Given the description of an element on the screen output the (x, y) to click on. 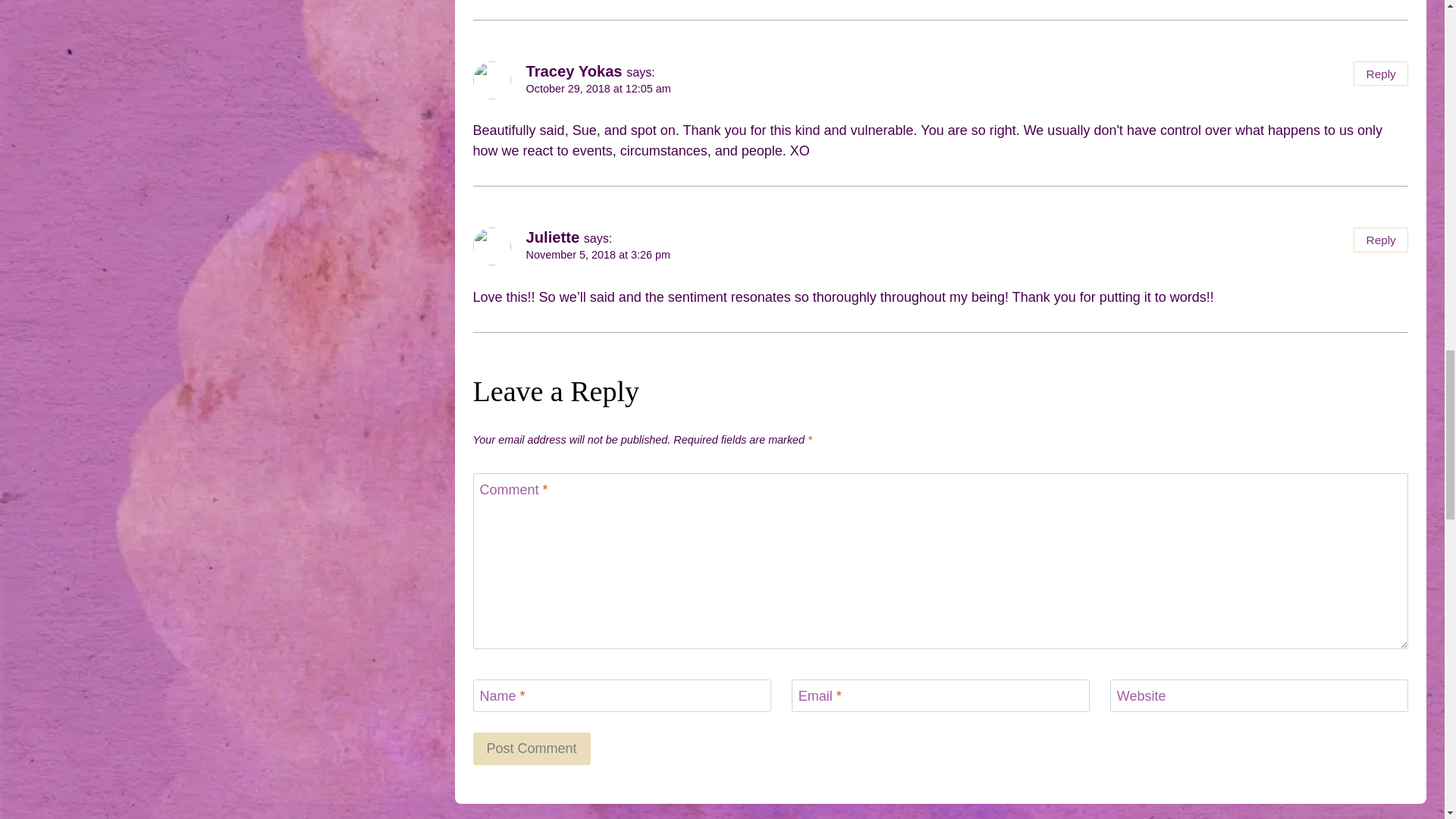
Reply (1380, 73)
Post Comment (532, 748)
October 29, 2018 at 12:05 am (598, 88)
November 5, 2018 at 3:26 pm (597, 254)
Reply (1380, 239)
